Given the description of an element on the screen output the (x, y) to click on. 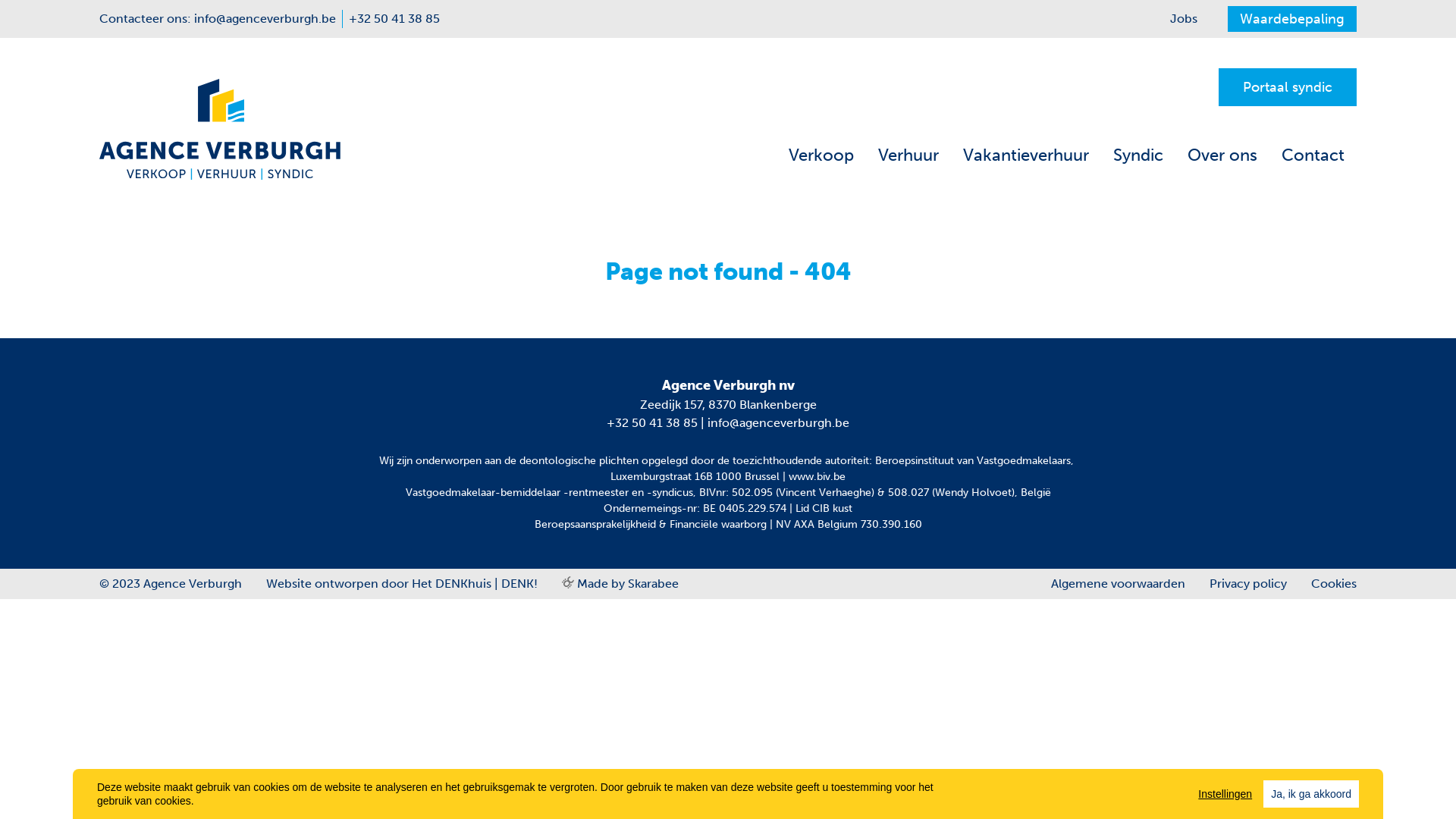
info@agenceverburgh.be Element type: text (268, 18)
+32 50 41 38 85 Element type: text (393, 18)
+32 50 41 38 85 Element type: text (651, 422)
Ja, ik ga akkoord Element type: text (1310, 793)
Over ons Element type: text (1222, 154)
info@agenceverburgh.be Element type: text (778, 422)
Jobs Element type: text (1183, 18)
Verhuur Element type: text (908, 154)
Vakantieverhuur Element type: text (1025, 154)
Verkoop Element type: text (821, 154)
Website ontworpen door Het DENKhuis | DENK! Element type: text (401, 583)
Waardebepaling Element type: text (1291, 18)
de deontologische plichten Element type: text (571, 460)
Portaal syndic Element type: text (1287, 87)
Instellingen Element type: text (1225, 793)
Contact Element type: text (1312, 154)
Algemene voorwaarden Element type: text (1117, 583)
Privacy policy Element type: text (1248, 583)
Cookies Element type: text (1327, 583)
Syndic Element type: text (1138, 154)
Made by Skarabee Element type: text (619, 583)
